Given the description of an element on the screen output the (x, y) to click on. 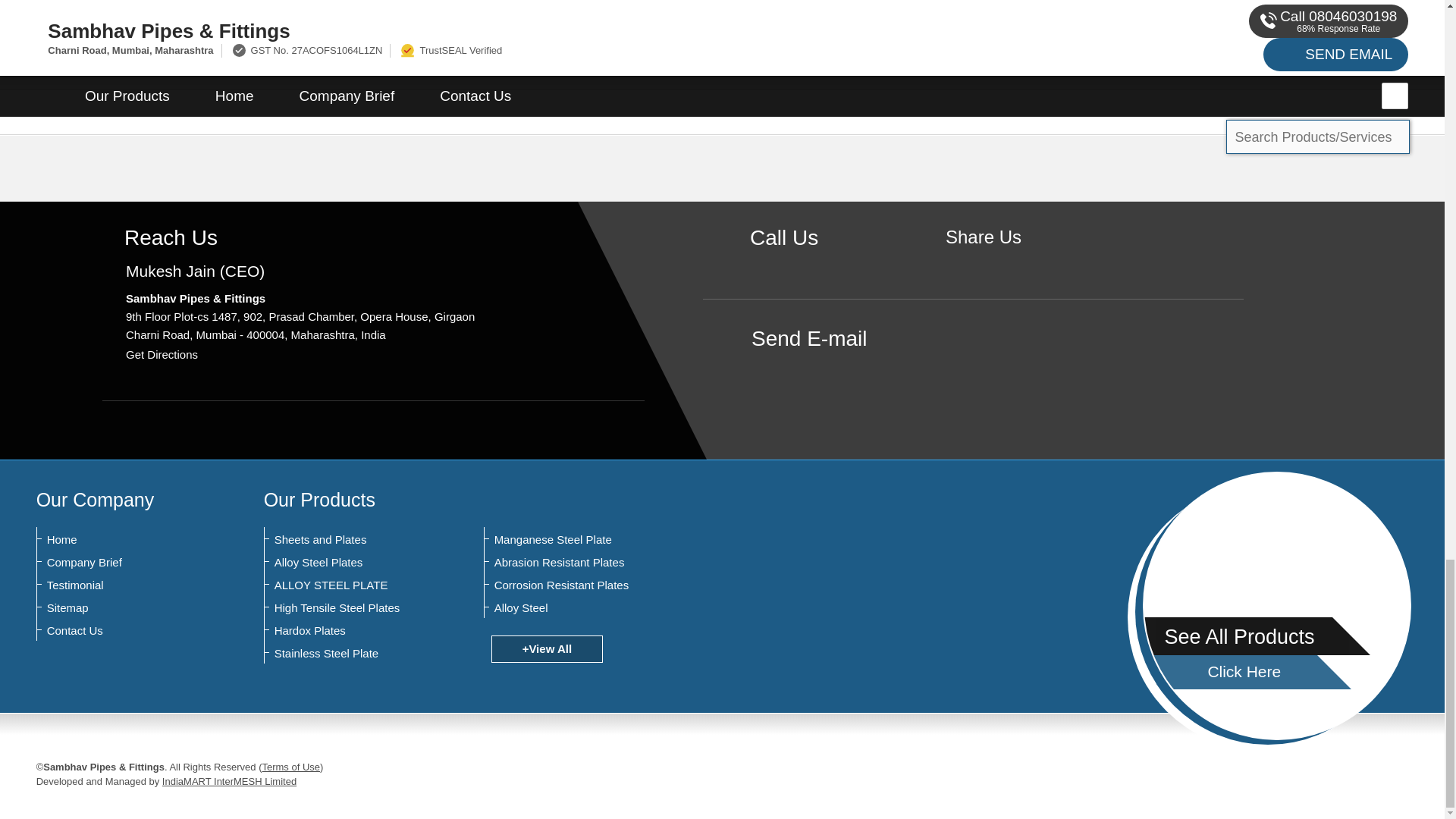
Contact Us (121, 630)
Home (121, 539)
Sitemap (121, 607)
Twitter (1006, 262)
Facebook (983, 262)
LinkedIn (1029, 262)
Company Brief (121, 562)
Testimonial (121, 585)
Get Directions (161, 354)
